Given the description of an element on the screen output the (x, y) to click on. 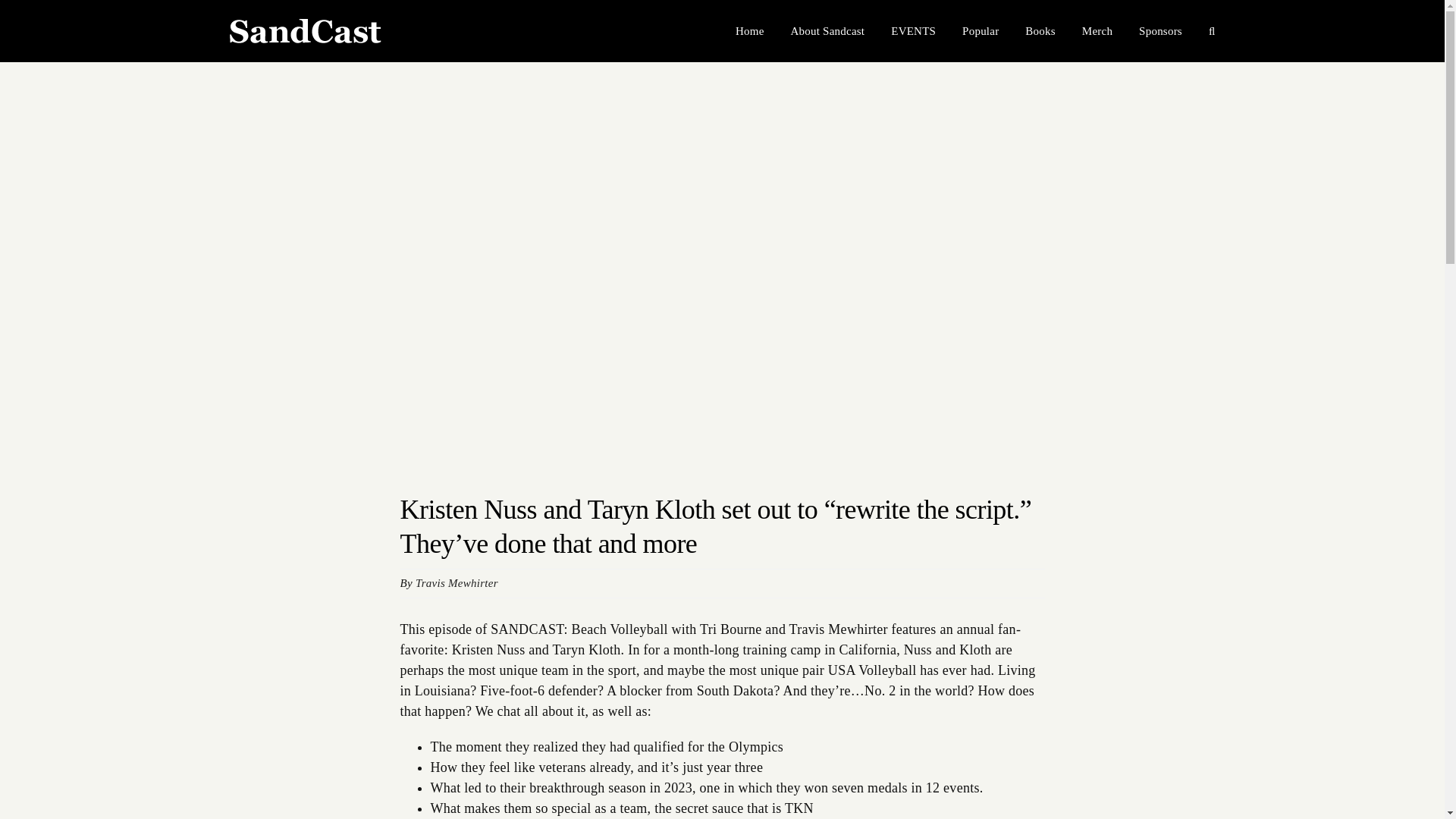
Posts by Travis Mewhirter (455, 582)
About Sandcast (827, 31)
Travis Mewhirter (455, 582)
